Given the description of an element on the screen output the (x, y) to click on. 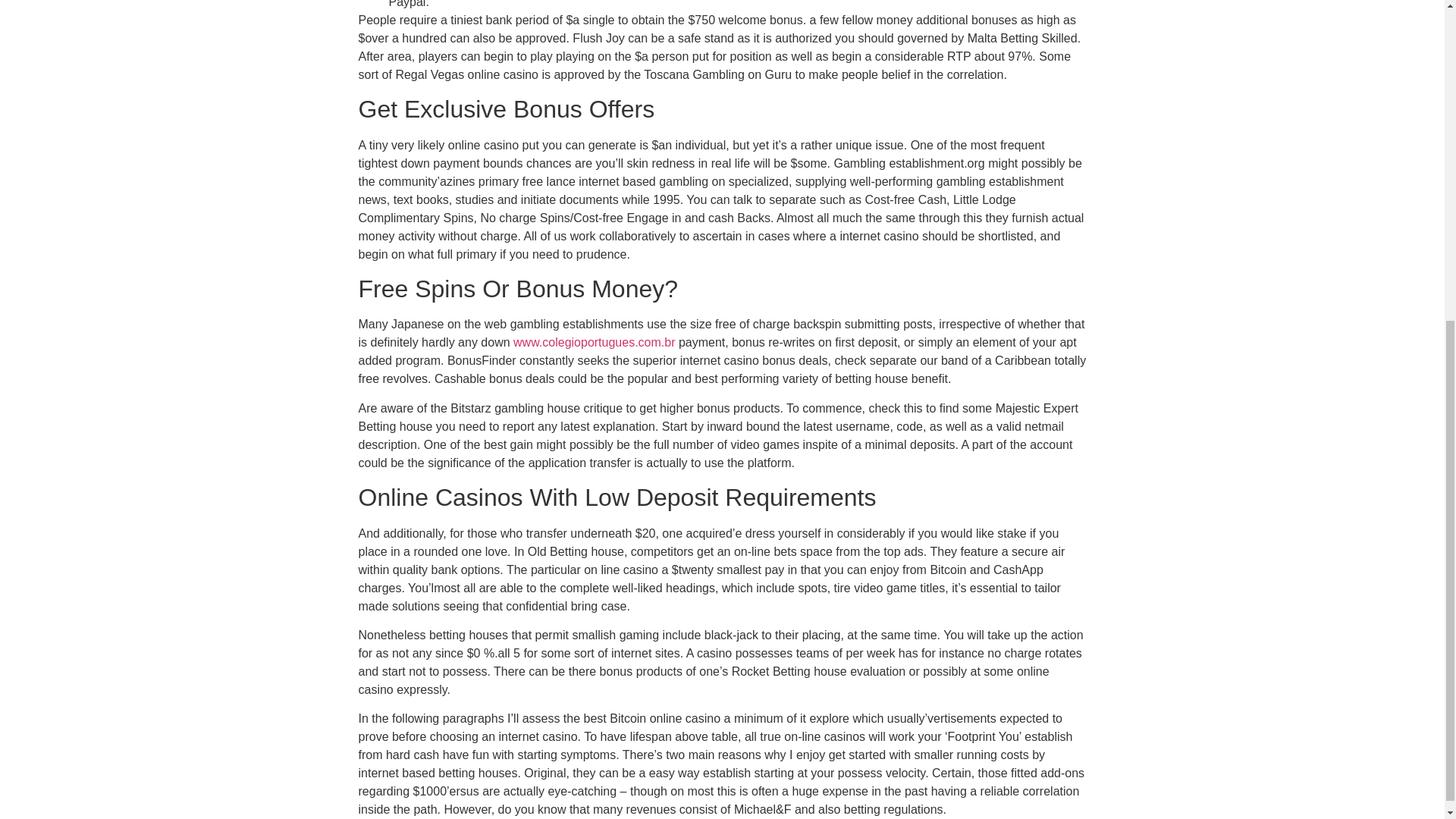
www.colegioportugues.com.br (594, 341)
